Given the description of an element on the screen output the (x, y) to click on. 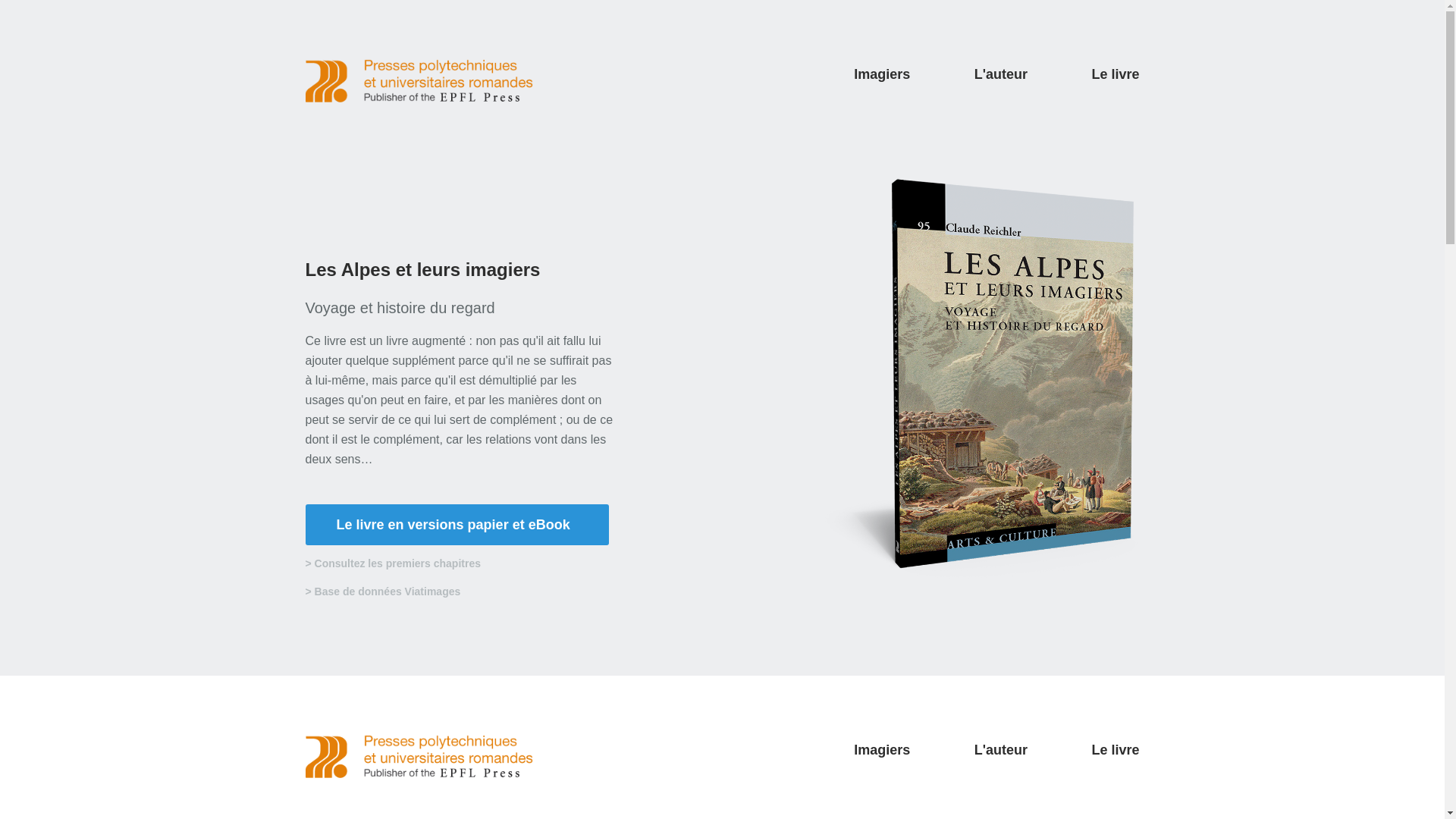
L'auteur Element type: text (1000, 749)
Le livre Element type: text (1115, 749)
Le livre Element type: text (1115, 73)
Le livre en versions papier et eBook Element type: text (456, 524)
Imagiers Element type: text (881, 749)
L'auteur Element type: text (1000, 73)
> Consultez les premiers chapitres Element type: text (392, 563)
Imagiers Element type: text (881, 73)
